Given the description of an element on the screen output the (x, y) to click on. 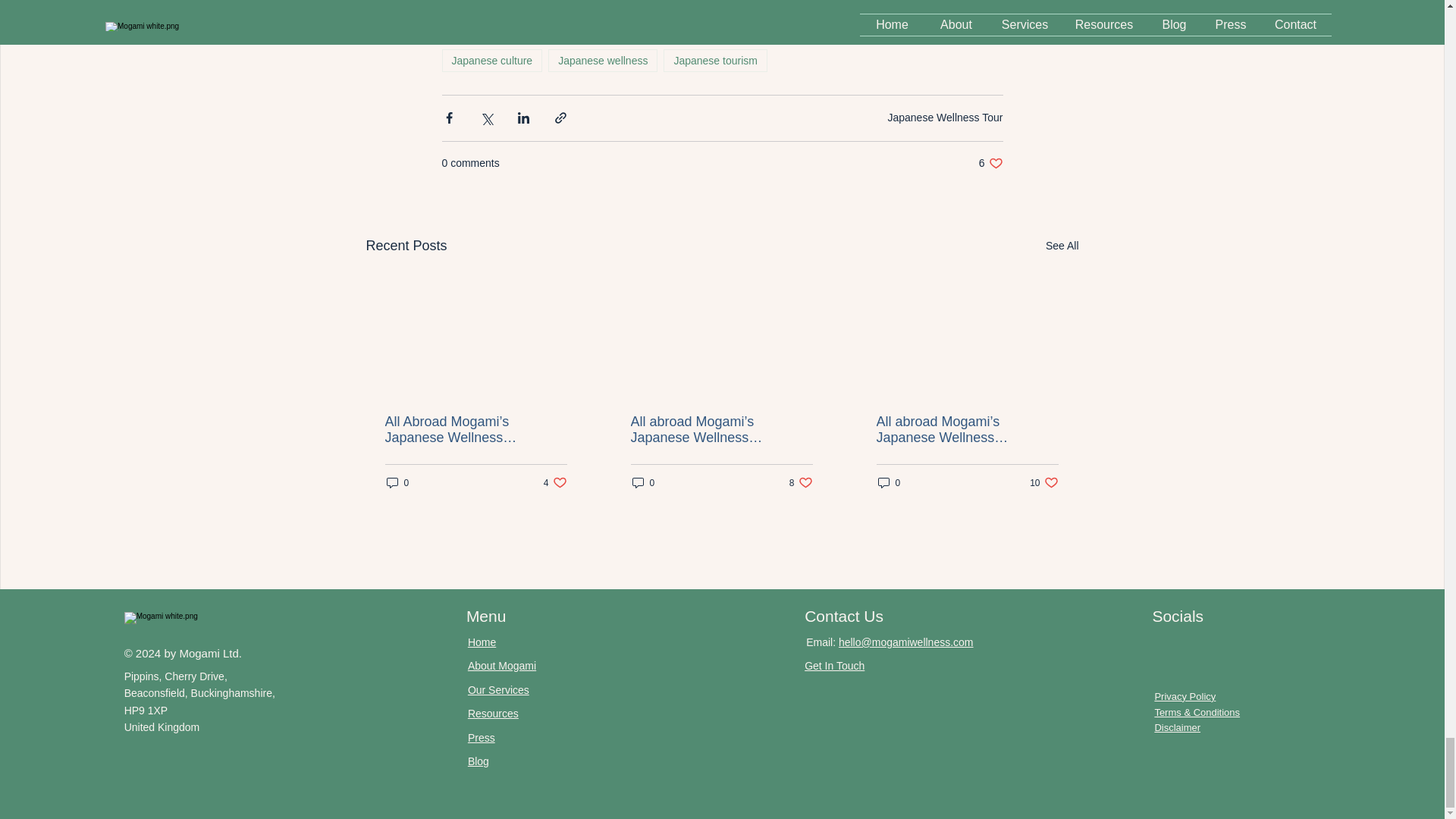
Japanese wellness (603, 60)
Japanese culture (555, 482)
0 (491, 60)
Japanese Wellness Tour (397, 482)
See All (990, 163)
Japanese tourism (944, 117)
